Given the description of an element on the screen output the (x, y) to click on. 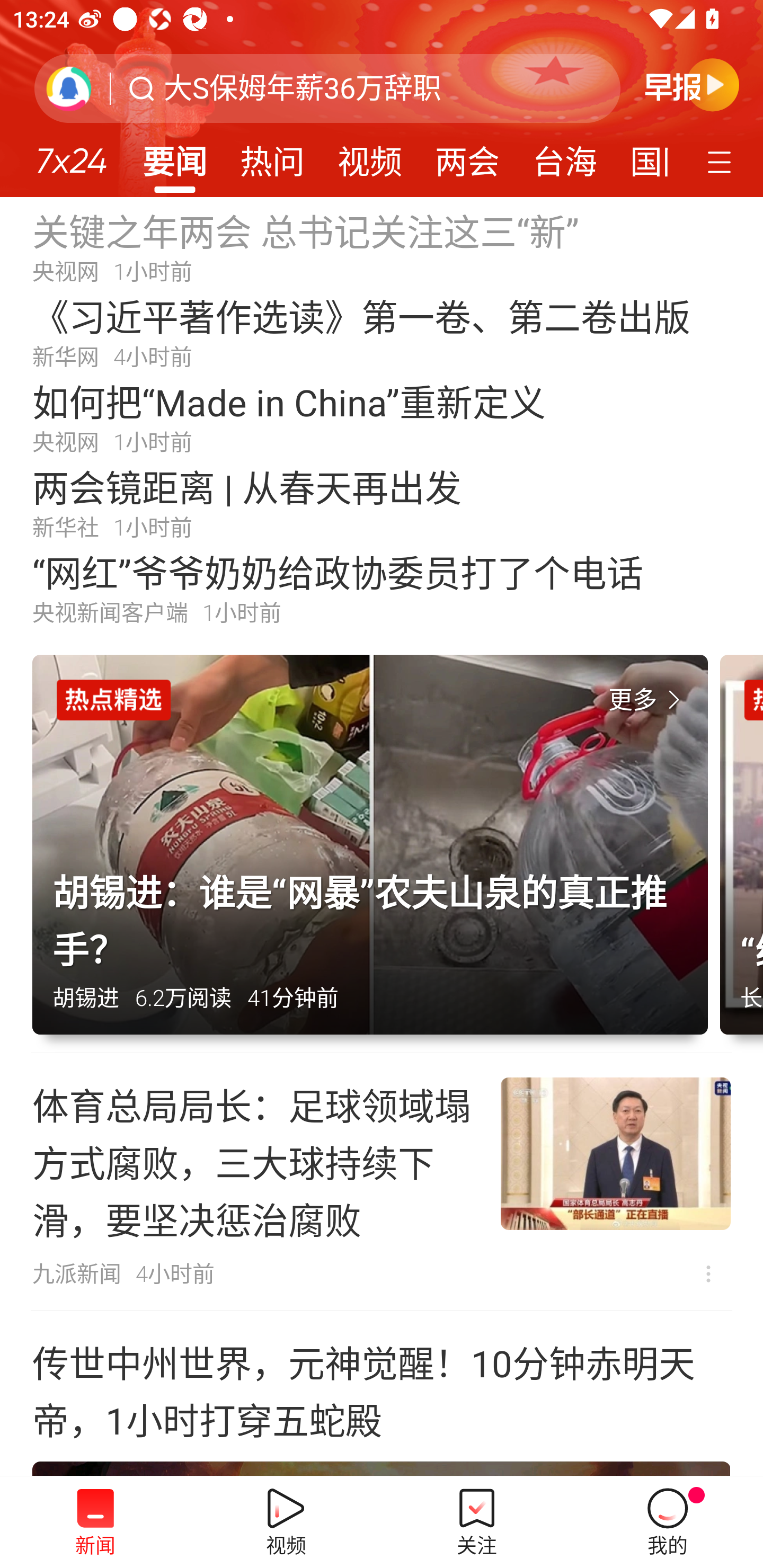
早晚报 (691, 84)
刷新 (68, 88)
大S保姆年薪36万辞职 (302, 88)
7x24 (70, 154)
要闻 (174, 155)
热问 (272, 155)
视频 (369, 155)
两会 (466, 155)
台海 (564, 155)
 定制频道 (721, 160)
关键之年两会 总书记关注这三“新” 央视网 1小时前 (381, 245)
《习近平著作选读》第一卷、第二卷出版 新华网 4小时前 (381, 331)
如何把“Made in China”重新定义 央视网 1小时前 (381, 416)
两会镜距离 | 从春天再出发 新华社 1小时前 (381, 502)
“网红”爷爷奶奶给政协委员打了个电话 央视新闻客户端 1小时前 (381, 587)
更多  胡锡进：谁是“网暴”农夫山泉的真正推手？ 胡锡进   6.2万阅读   41分钟前 (376, 853)
更多  (648, 699)
体育总局局长：足球领域塌方式腐败，三大球持续下滑，要坚决惩治腐败 九派新闻 4小时前  不感兴趣 (381, 1181)
 不感兴趣 (707, 1273)
传世中州世界，元神觉醒！10分钟赤明天帝，1小时打穿五蛇殿 (381, 1393)
